Given the description of an element on the screen output the (x, y) to click on. 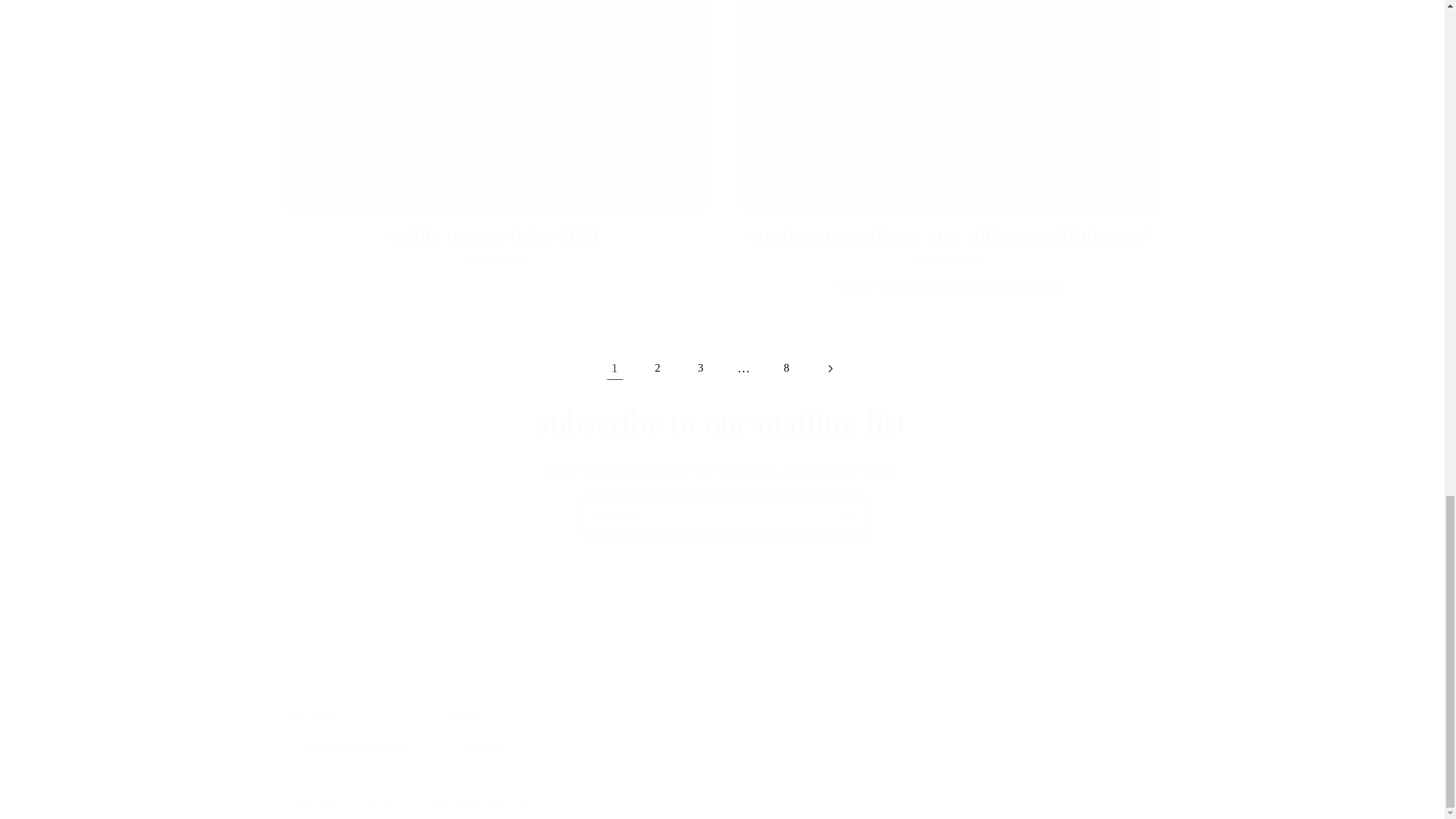
subscribe to our mailing list (722, 422)
